Given the description of an element on the screen output the (x, y) to click on. 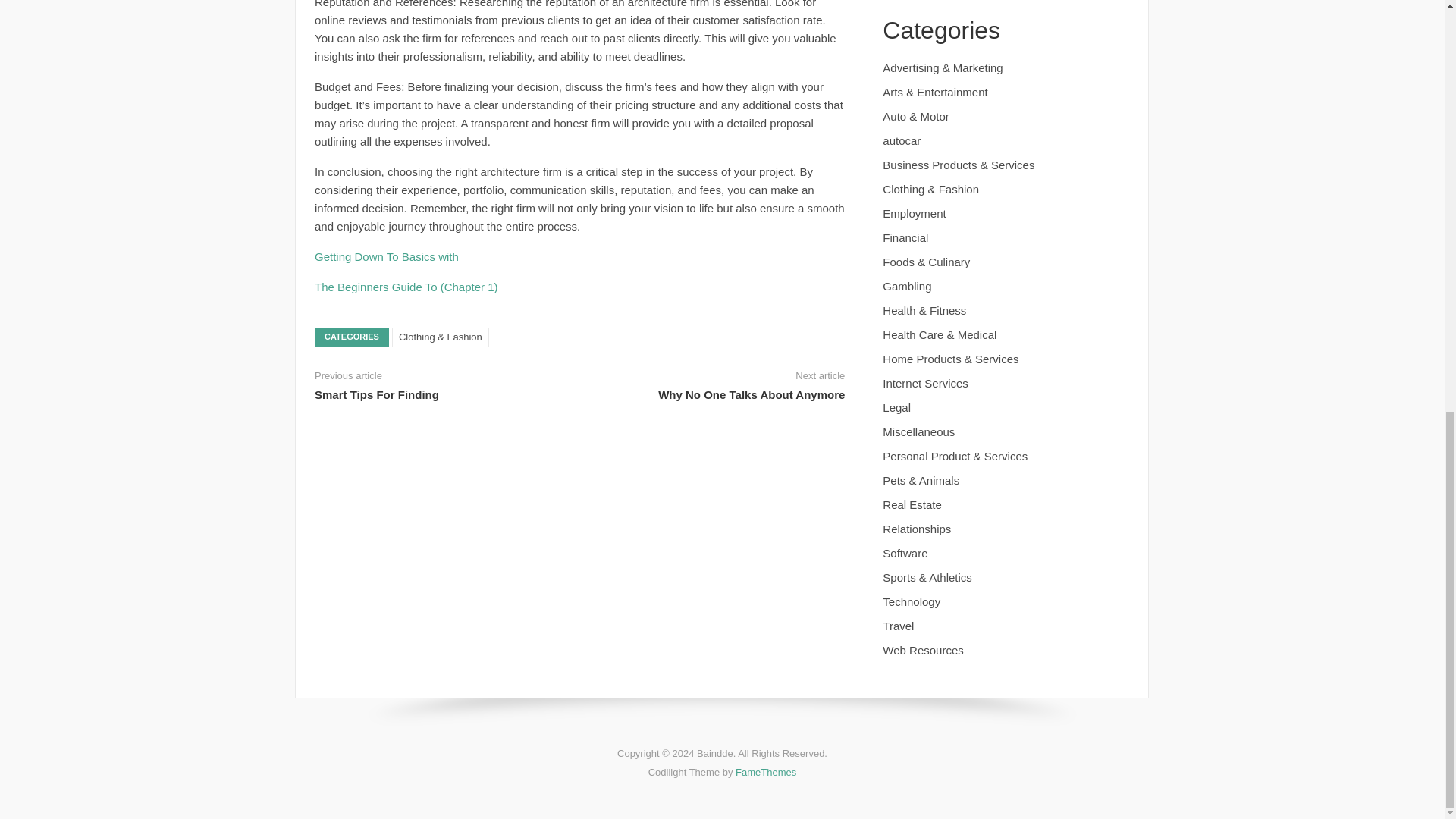
autocar (901, 140)
Getting Down To Basics with (386, 256)
Employment (913, 213)
Financial (905, 237)
Gambling (906, 286)
Why No One Talks About Anymore (751, 394)
Smart Tips For Finding (376, 394)
